Given the description of an element on the screen output the (x, y) to click on. 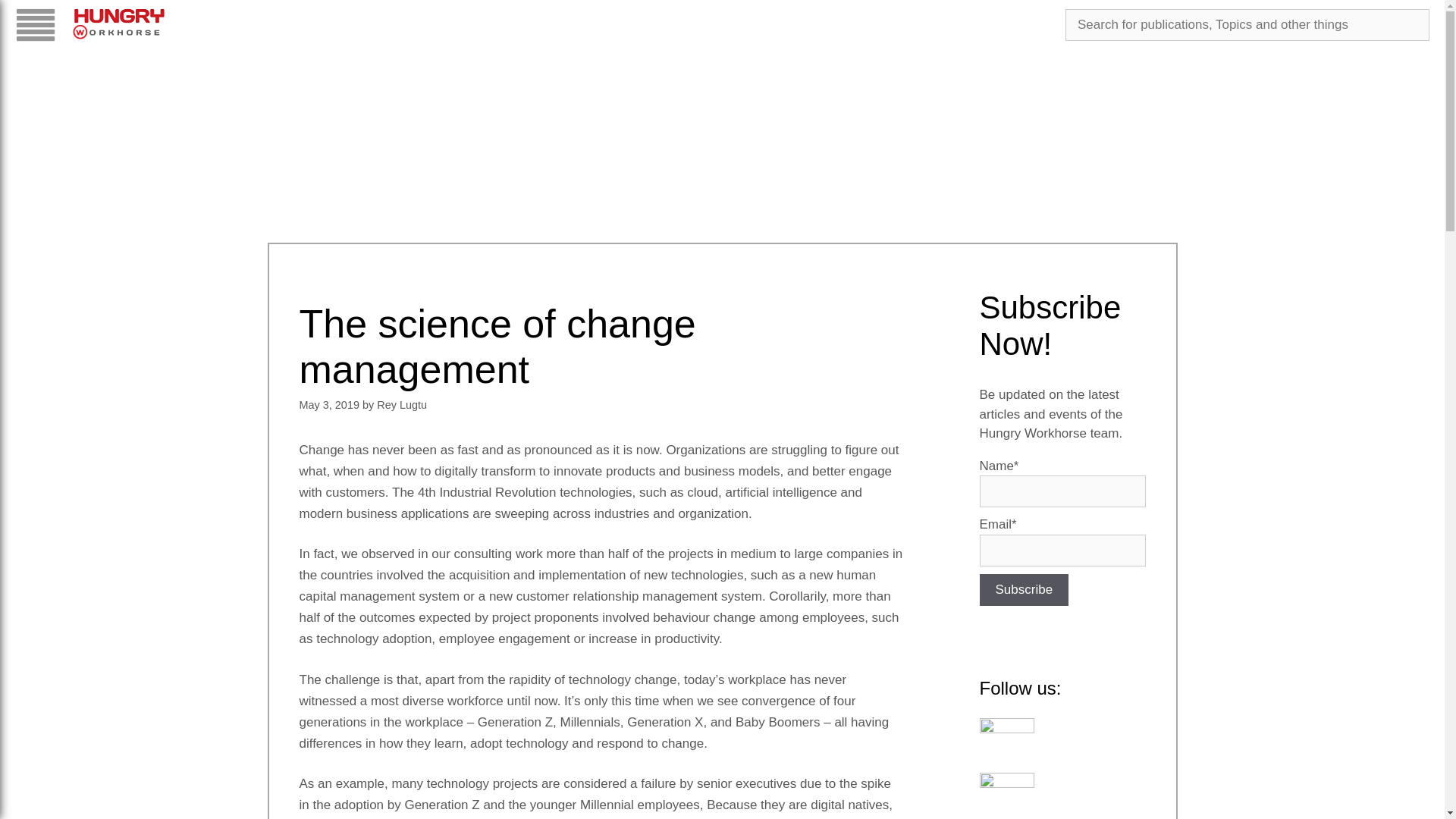
Subscribe (1023, 590)
Rey Lugtu (401, 404)
View all posts by Rey Lugtu (401, 404)
Subscribe (1023, 590)
